Given the description of an element on the screen output the (x, y) to click on. 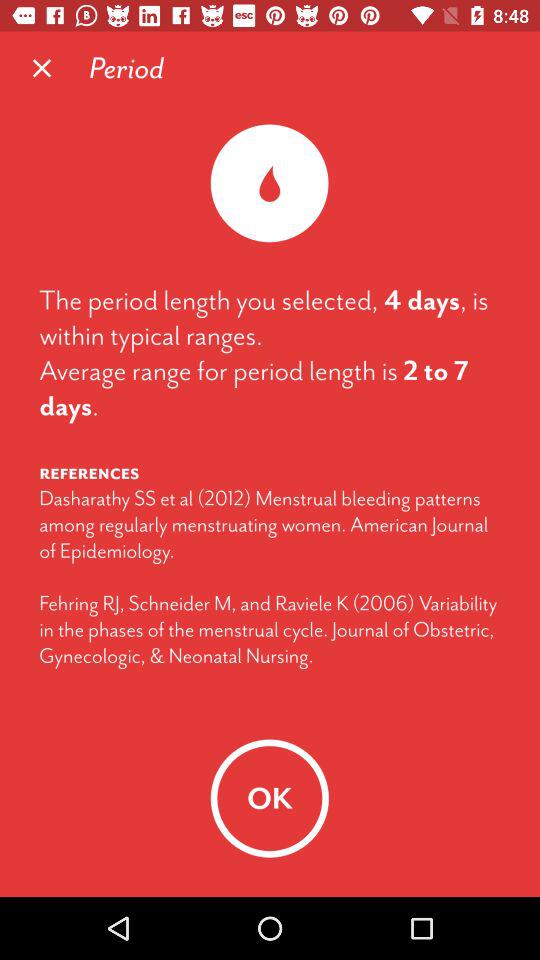
go to back (42, 68)
